Given the description of an element on the screen output the (x, y) to click on. 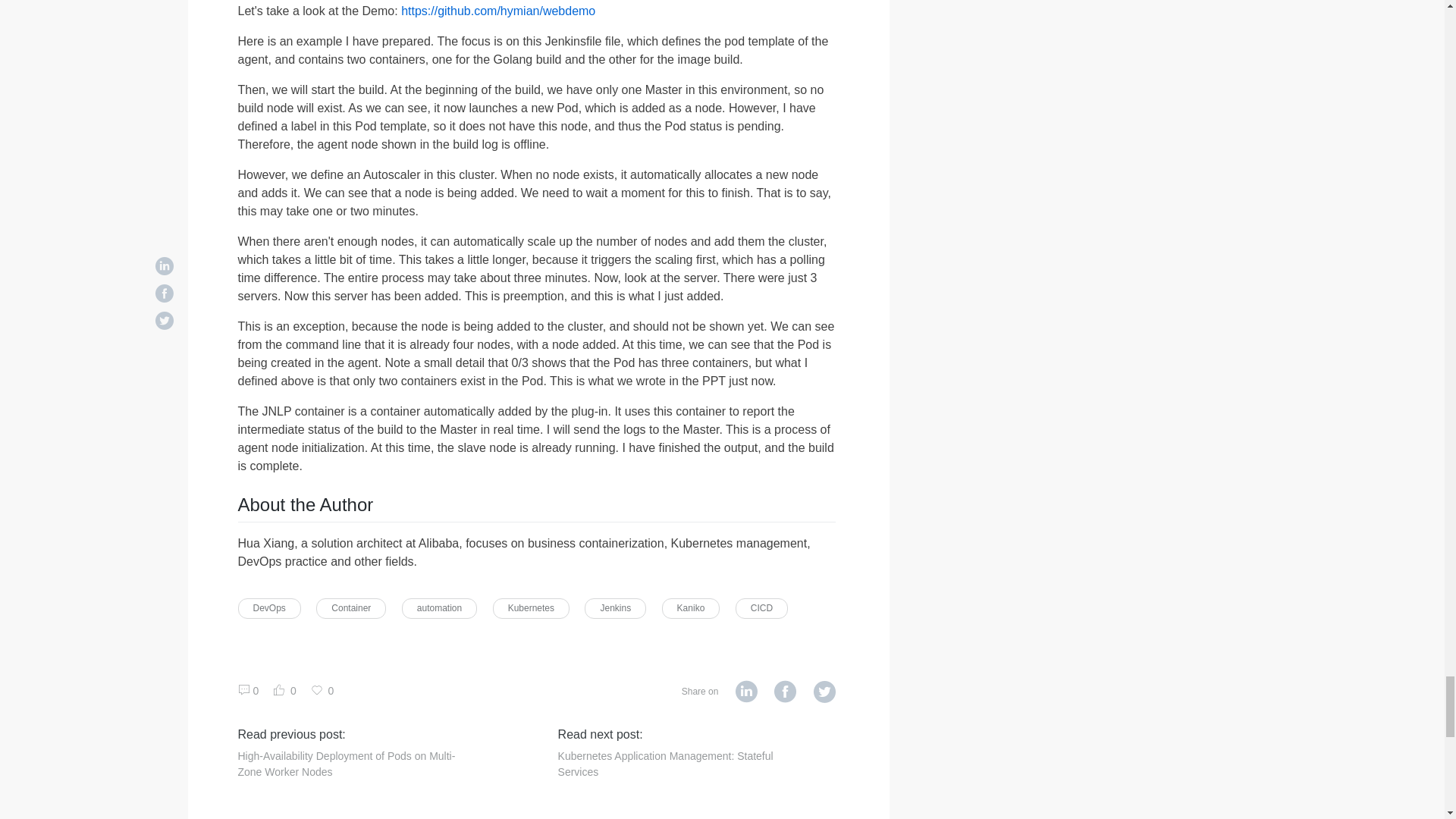
Kubernetes (531, 608)
Container (350, 608)
automation (439, 608)
DevOps (269, 608)
